Given the description of an element on the screen output the (x, y) to click on. 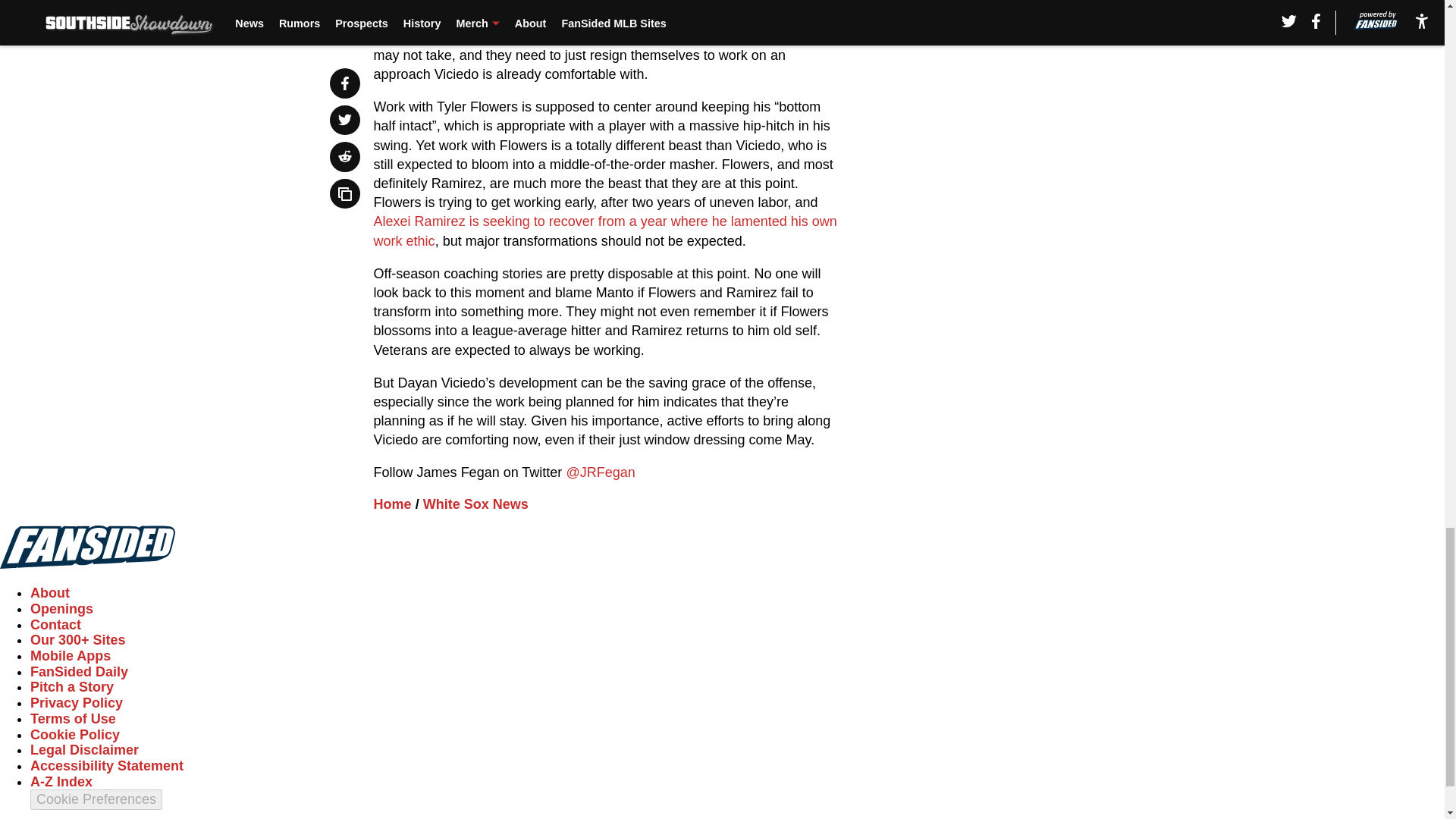
White Sox News (475, 503)
Home (393, 503)
